Given the description of an element on the screen output the (x, y) to click on. 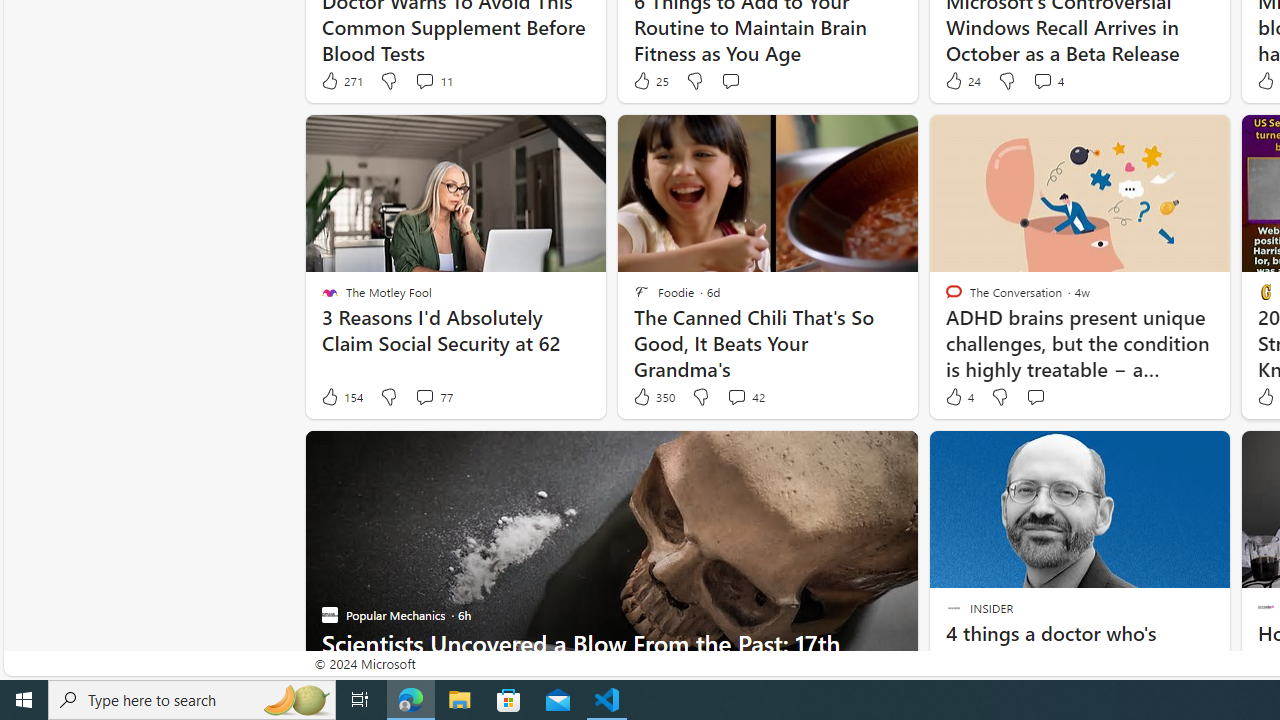
25 Like (650, 80)
24 Like (961, 80)
View comments 4 Comment (1042, 80)
